Given the description of an element on the screen output the (x, y) to click on. 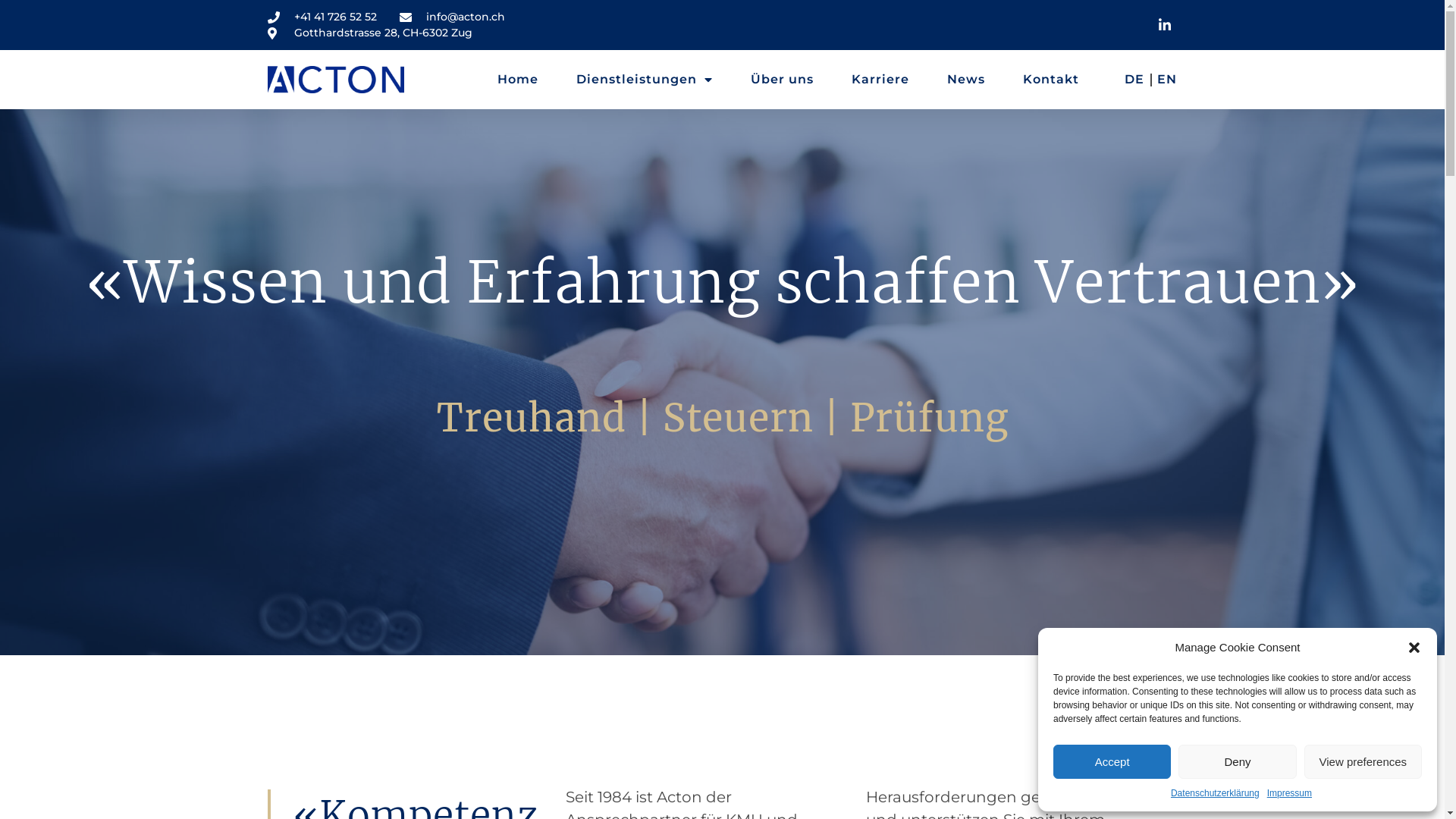
Accept Element type: text (1111, 761)
DE Element type: text (1134, 79)
Deny Element type: text (1236, 761)
View preferences Element type: text (1362, 761)
+41 41 726 52 52 Element type: text (321, 17)
Kontakt Element type: text (1050, 79)
EN Element type: text (1166, 79)
News Element type: text (966, 79)
Impressum Element type: text (1289, 793)
Karriere Element type: text (880, 79)
Home Element type: text (517, 79)
Dienstleistungen Element type: text (644, 79)
info@acton.ch Element type: text (451, 17)
